Given the description of an element on the screen output the (x, y) to click on. 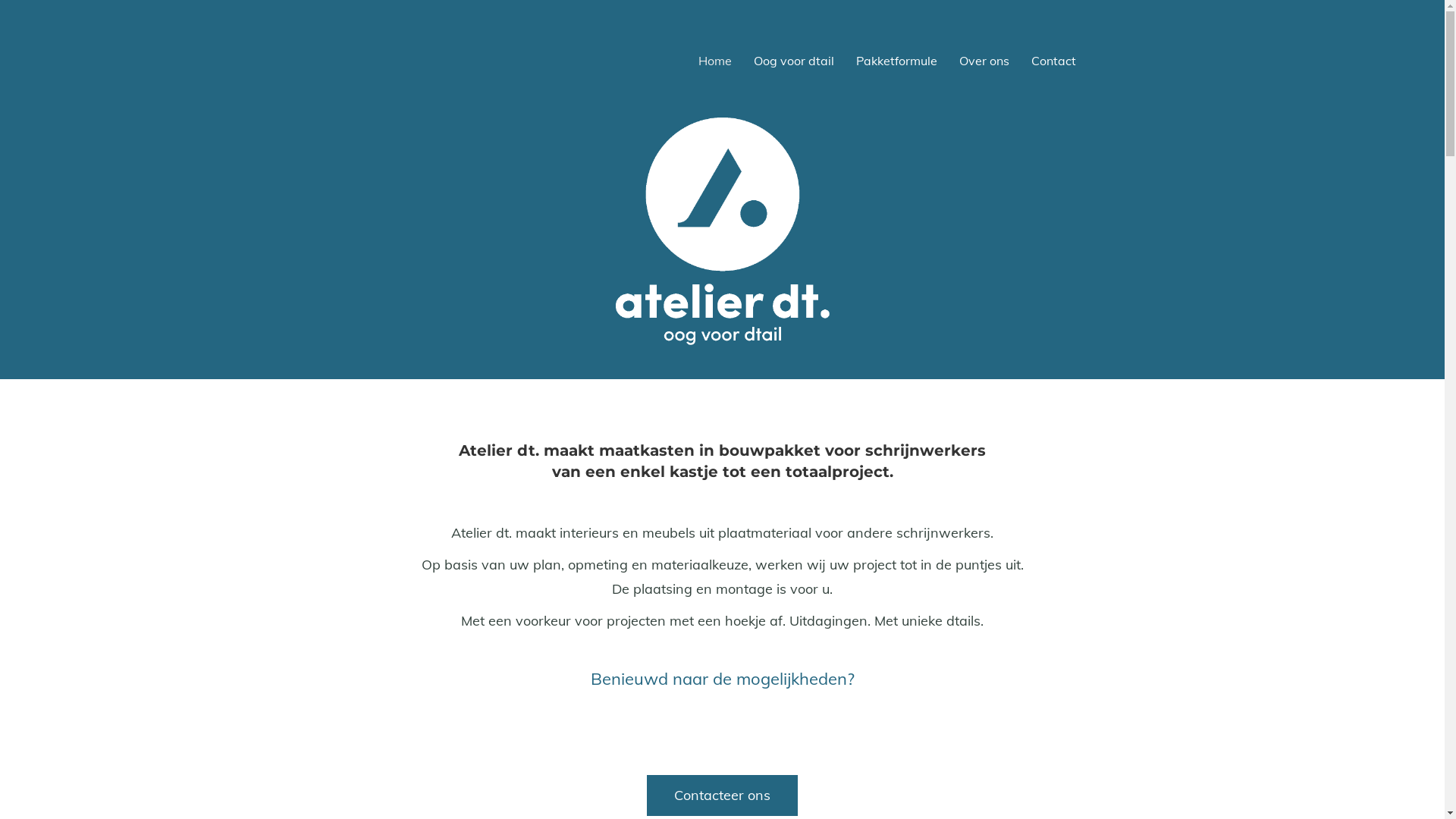
Benieuwd naar de mogelijkheden? Element type: text (721, 679)
Oog voor dtail Element type: text (793, 60)
Home Element type: text (714, 60)
Pakketformule Element type: text (895, 60)
atelier-dt-logo-varianten-wit.gif Element type: hover (721, 231)
Over ons Element type: text (983, 60)
Contact Element type: text (1053, 60)
Contacteer ons Element type: text (721, 795)
